Given the description of an element on the screen output the (x, y) to click on. 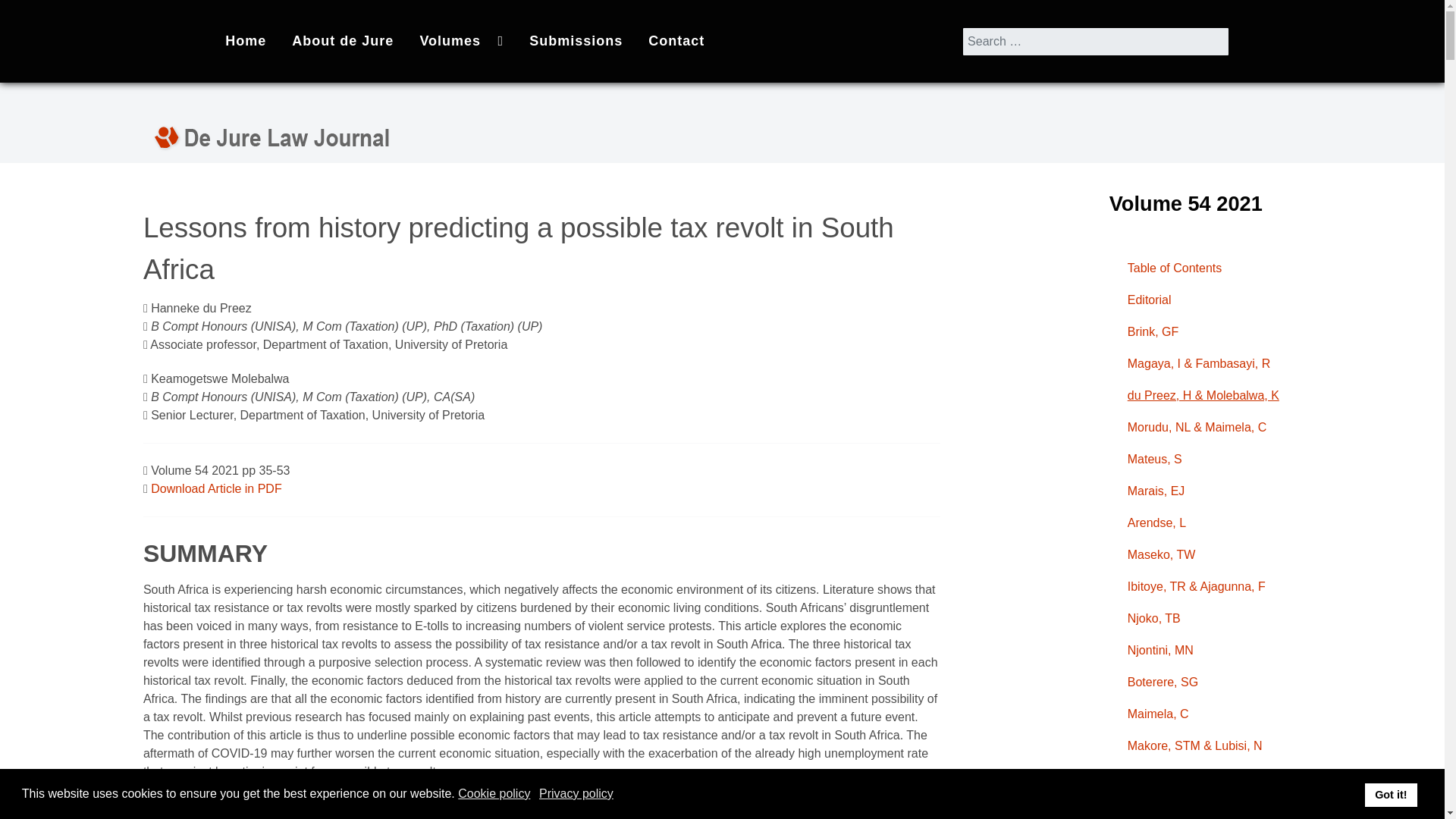
Volumes (462, 40)
About de Jure (343, 40)
Home (246, 40)
Got it! (1390, 794)
Privacy policy (576, 793)
Cookie policy (495, 793)
